Given the description of an element on the screen output the (x, y) to click on. 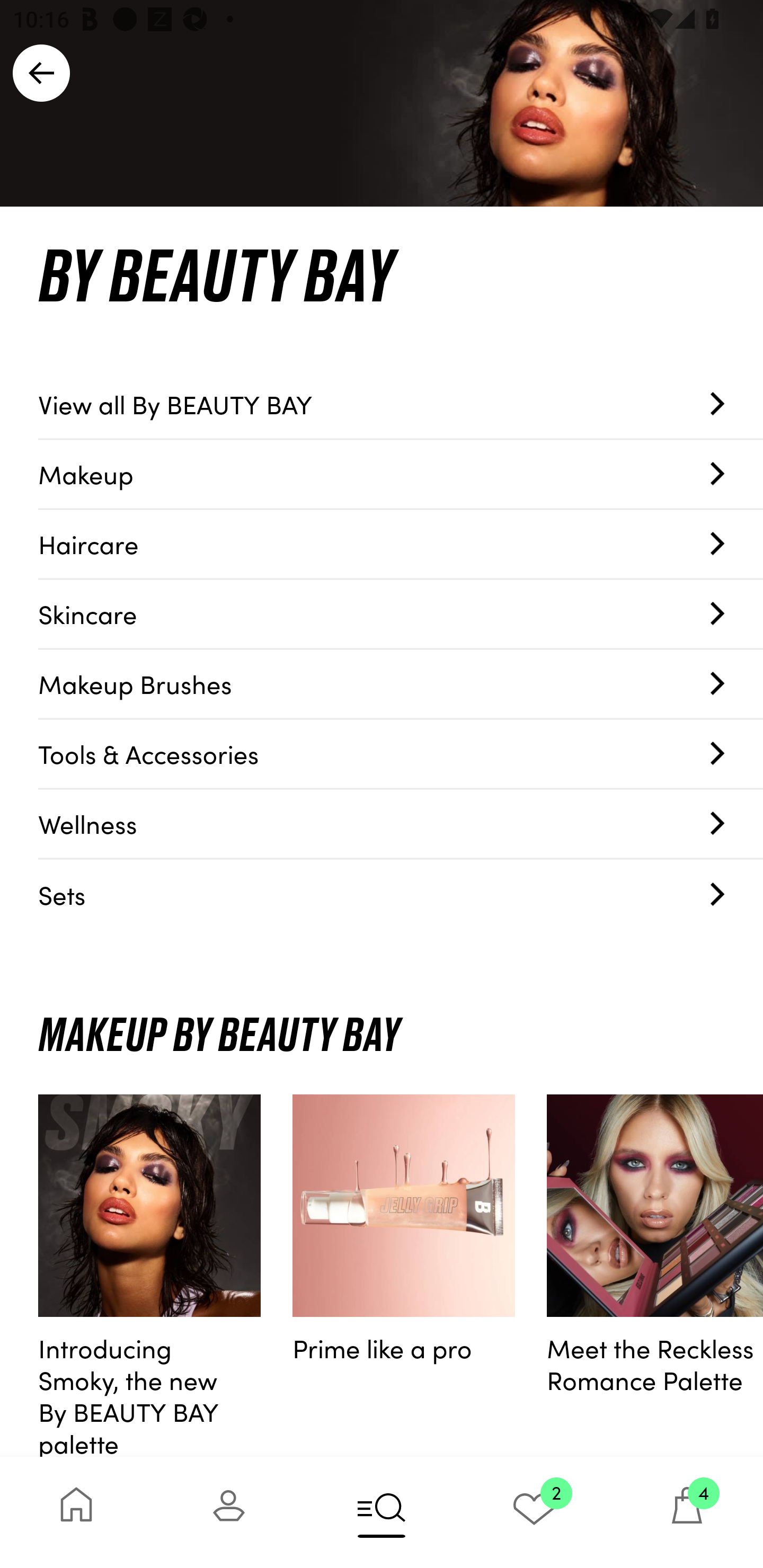
View all By BEAUTY BAY  (400, 404)
Makeup (400, 474)
Haircare (400, 544)
Skincare (400, 614)
Makeup Brushes (400, 684)
Tools & Accessories (400, 753)
Wellness (400, 823)
Sets (400, 894)
Introducing Smoky, the new By BEAUTY BAY palette (149, 1275)
Prime like a pro (403, 1275)
Meet the Reckless Romance Palette (655, 1275)
2 (533, 1512)
4 (686, 1512)
